Given the description of an element on the screen output the (x, y) to click on. 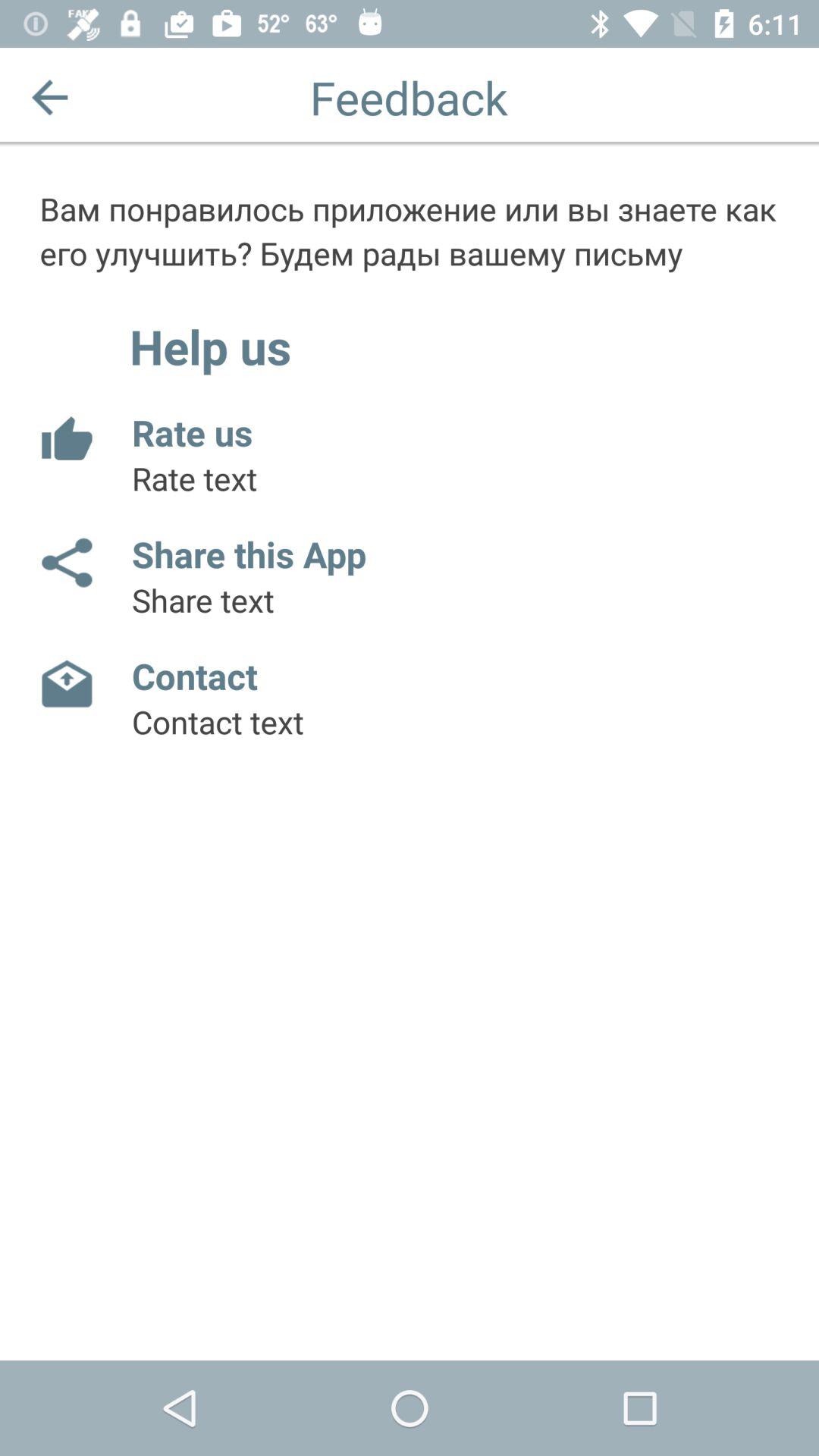
rate app (65, 440)
